Given the description of an element on the screen output the (x, y) to click on. 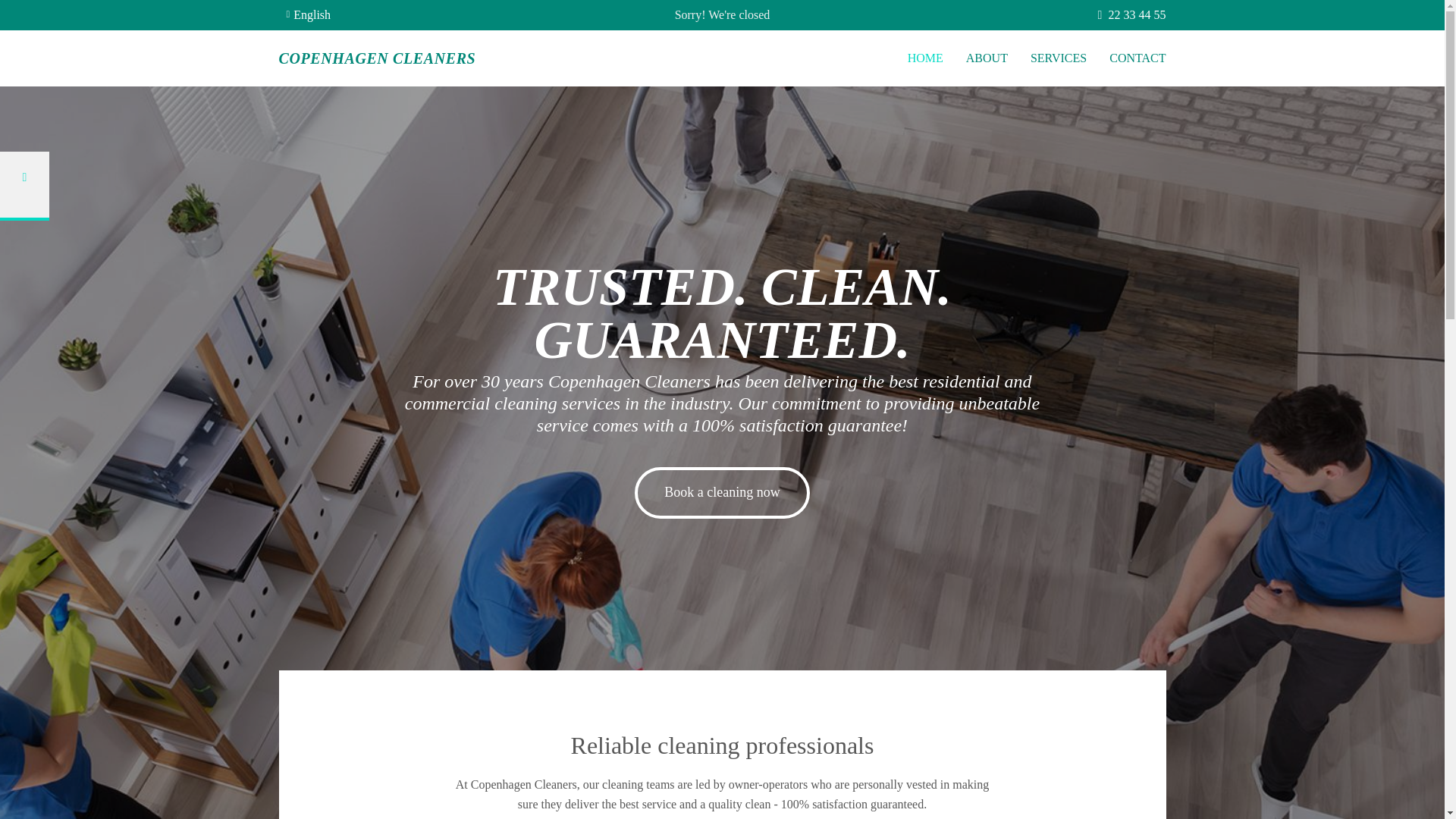
English (308, 14)
Book a cleaning now (721, 492)
ABOUT (986, 58)
HOME (925, 58)
SERVICES (1058, 58)
CONTACT (1137, 58)
COPENHAGEN CLEANERS (377, 57)
